Given the description of an element on the screen output the (x, y) to click on. 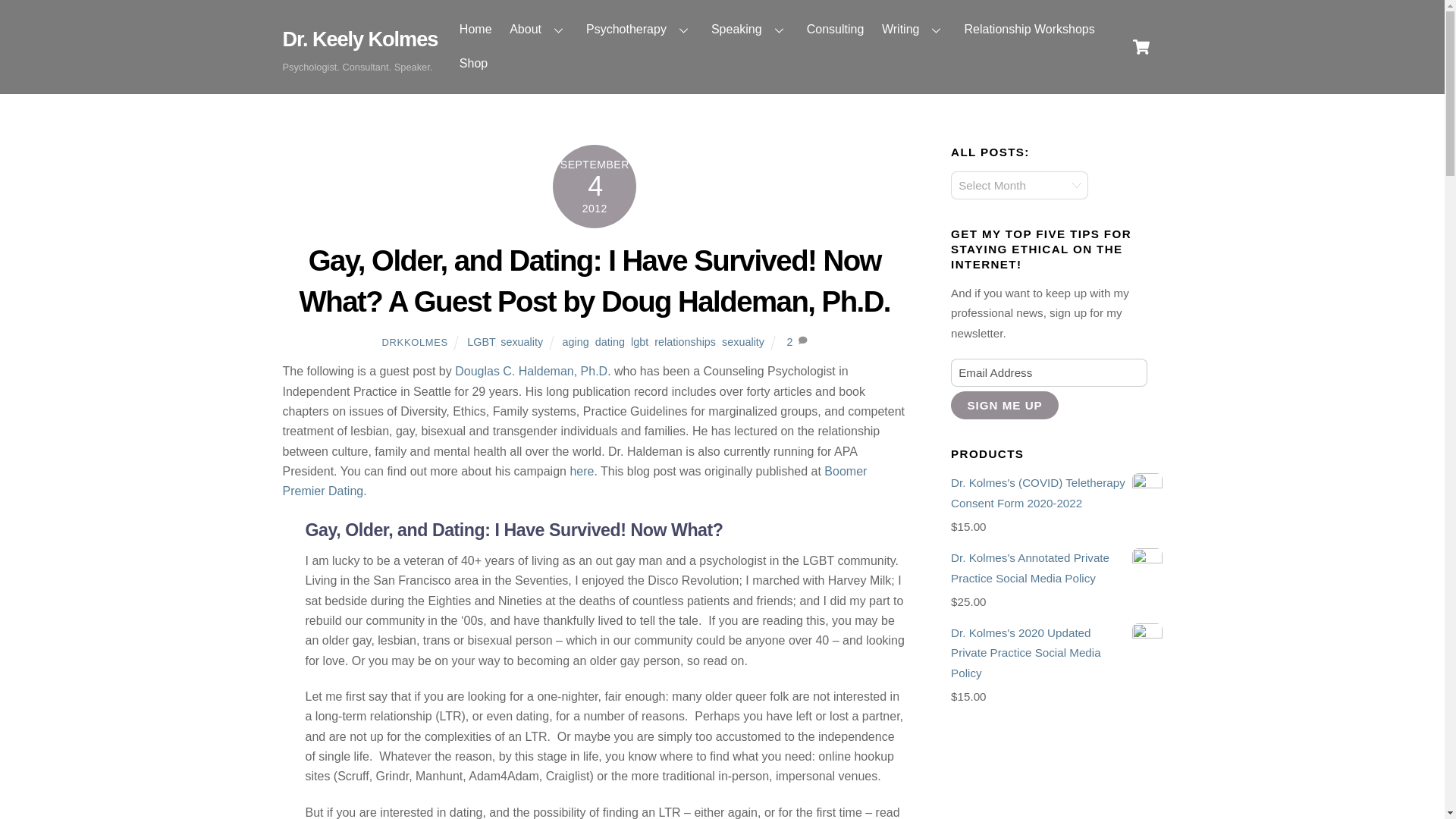
Speaking (748, 29)
Cart (1140, 46)
LGBT (481, 341)
Relationship Workshops (1029, 29)
Consulting (834, 29)
DRKKOLMES (414, 342)
Writing (914, 29)
Shop (473, 63)
Email Address (1048, 372)
Psychotherapy (639, 29)
Dr. Keely Kolmes (360, 38)
sexuality (521, 341)
dating (609, 341)
